Given the description of an element on the screen output the (x, y) to click on. 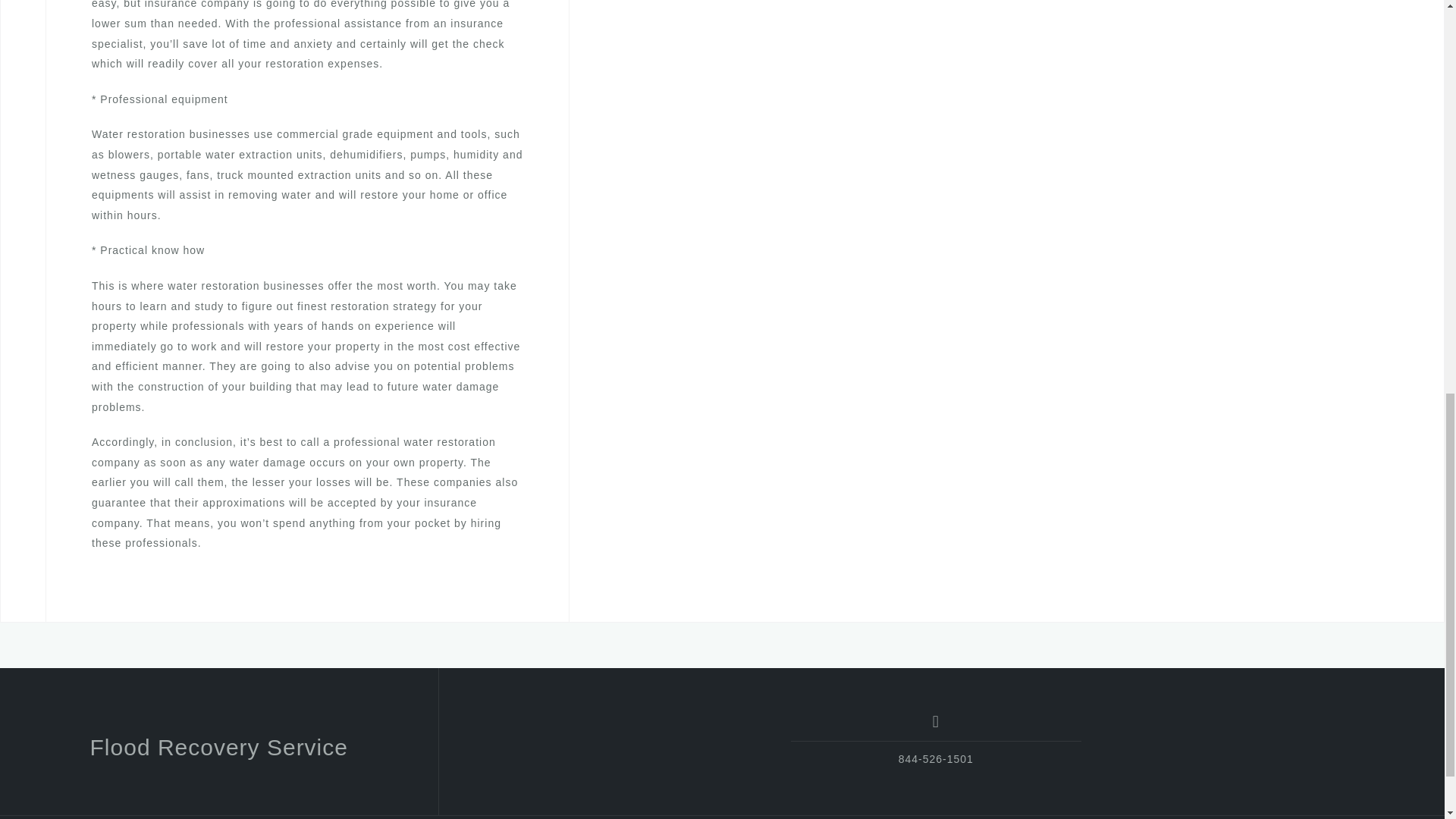
Flood Recovery Service (218, 747)
